Given the description of an element on the screen output the (x, y) to click on. 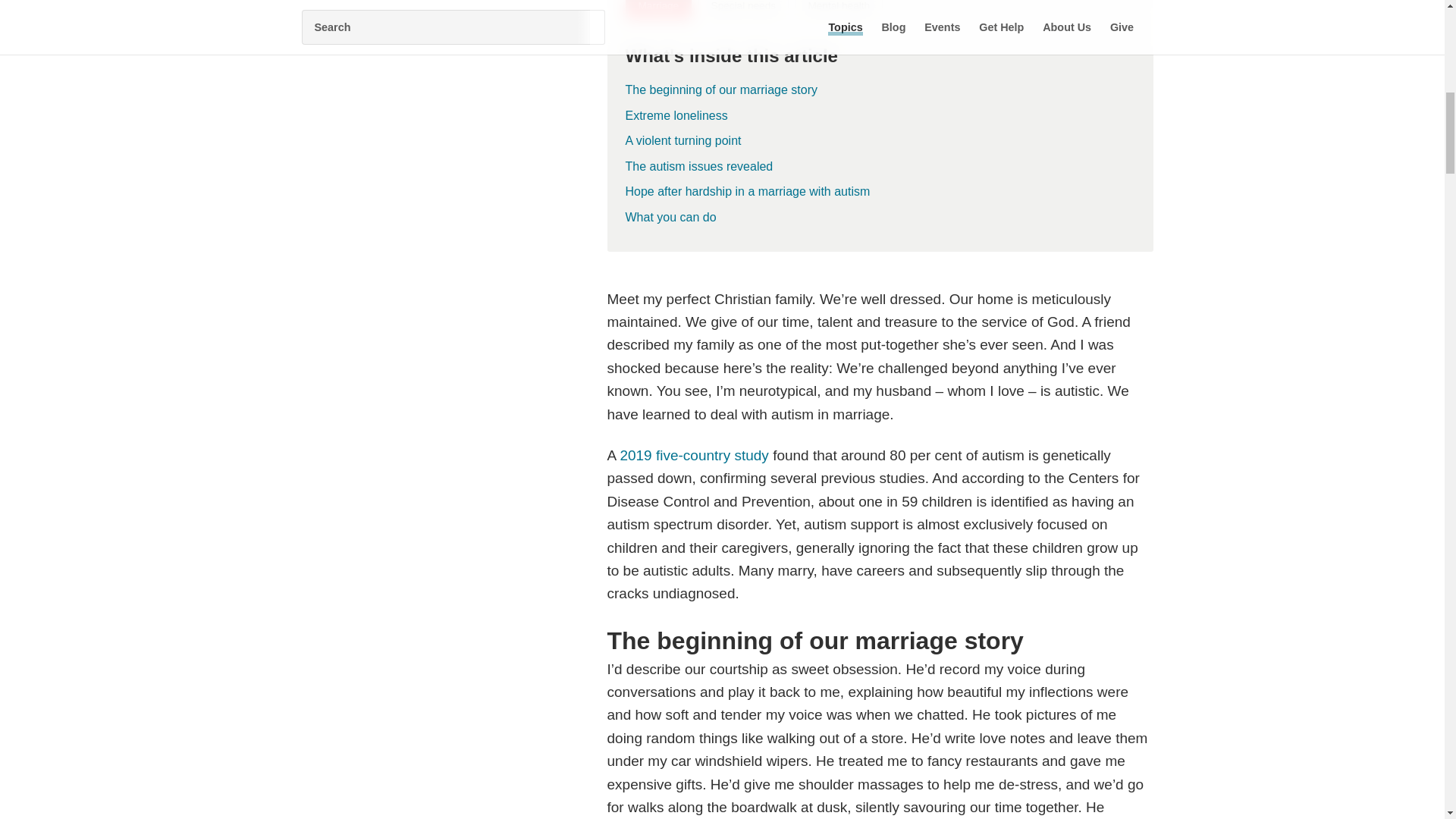
Hope after hardship in a marriage with autism (753, 194)
The beginning of our marriage story (726, 93)
Extreme loneliness (879, 118)
A violent turning point (879, 144)
The autism issues revealed (879, 169)
What you can do (676, 220)
What you can do (879, 220)
The beginning of our marriage story (879, 93)
Extreme loneliness (681, 118)
The autism issues revealed (704, 169)
Hope after hardship in a marriage with autism (879, 194)
A violent turning point (688, 144)
